Given the description of an element on the screen output the (x, y) to click on. 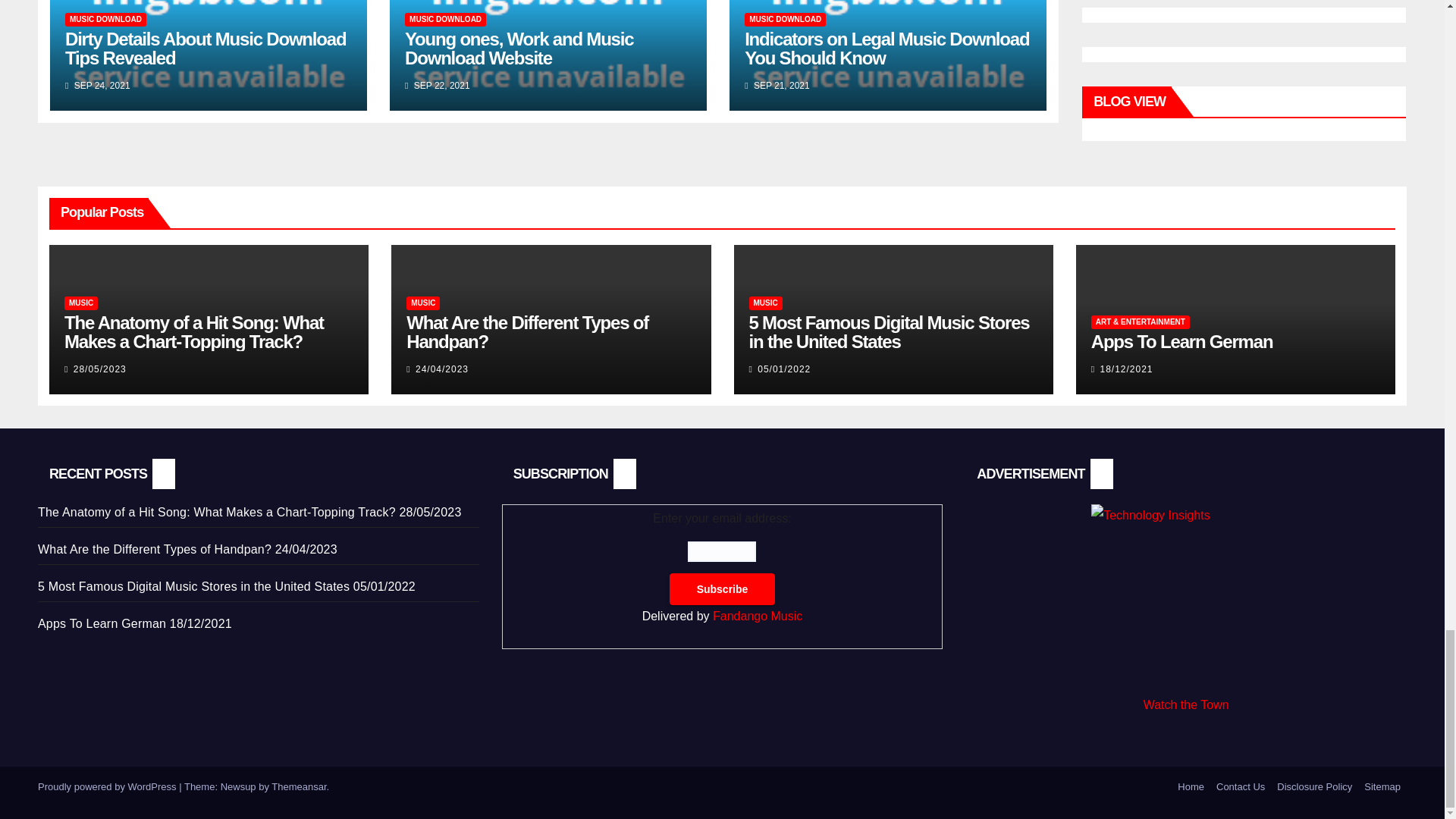
Permalink to: What Are the Different Types of Handpan? (526, 332)
MUSIC DOWNLOAD (784, 19)
Indicators on Legal Music Download You Should Know (886, 47)
Permalink to: Apps To Learn German (1181, 341)
MUSIC DOWNLOAD (445, 19)
MUSIC DOWNLOAD (106, 19)
Dirty Details About Music Download Tips Revealed (205, 47)
Permalink to: Young ones, Work and Music Download Website (518, 47)
Young ones, Work and Music Download Website (518, 47)
Subscribe (722, 589)
